Given the description of an element on the screen output the (x, y) to click on. 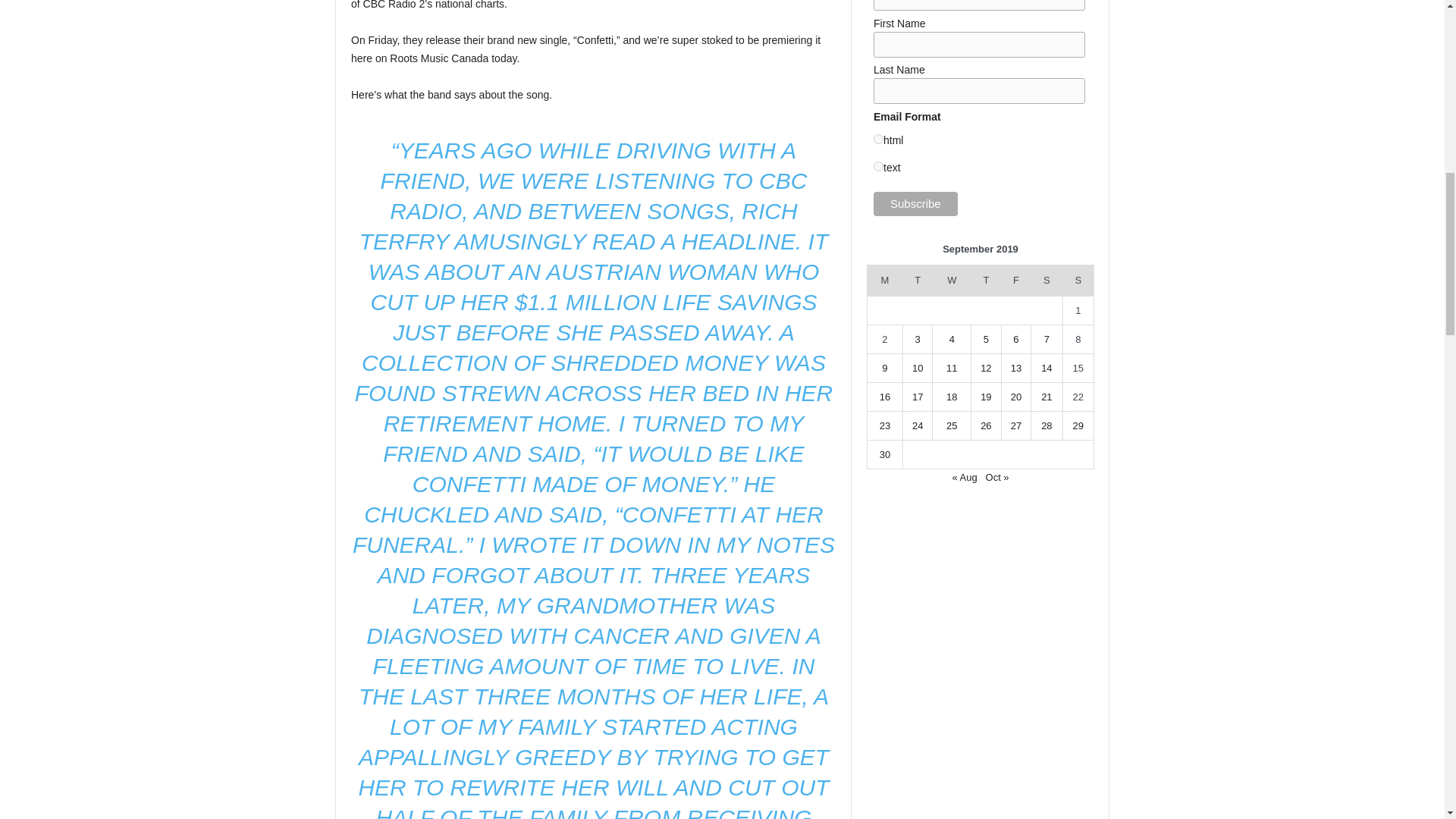
Subscribe (915, 203)
text (878, 166)
html (878, 139)
